Given the description of an element on the screen output the (x, y) to click on. 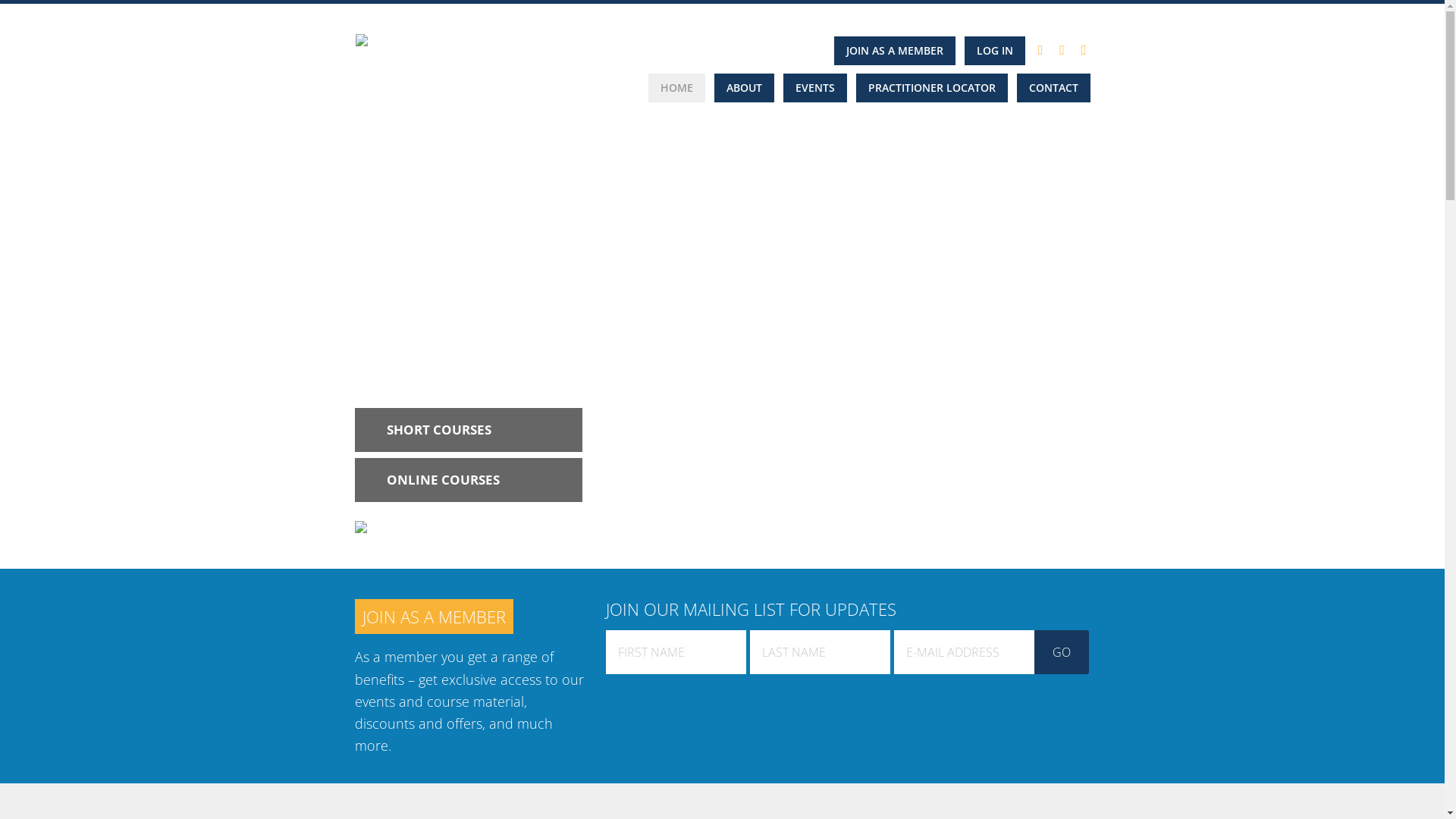
CONTACT Element type: text (1052, 87)
ABOUT Element type: text (744, 87)
NEUROLOGIC EDUCATION Element type: text (445, 71)
HOME Element type: text (675, 87)
JOIN AS A MEMBER Element type: text (894, 50)
ONLINE COURSES Element type: text (443, 480)
JOIN AS A MEMBER Element type: text (433, 616)
SHORT COURSES Element type: text (439, 429)
PRACTITIONER LOCATOR Element type: text (931, 87)
Skip to primary navigation Element type: text (0, 3)
EVENTS Element type: text (814, 87)
Go Element type: text (1061, 652)
LOG IN Element type: text (994, 50)
